Given the description of an element on the screen output the (x, y) to click on. 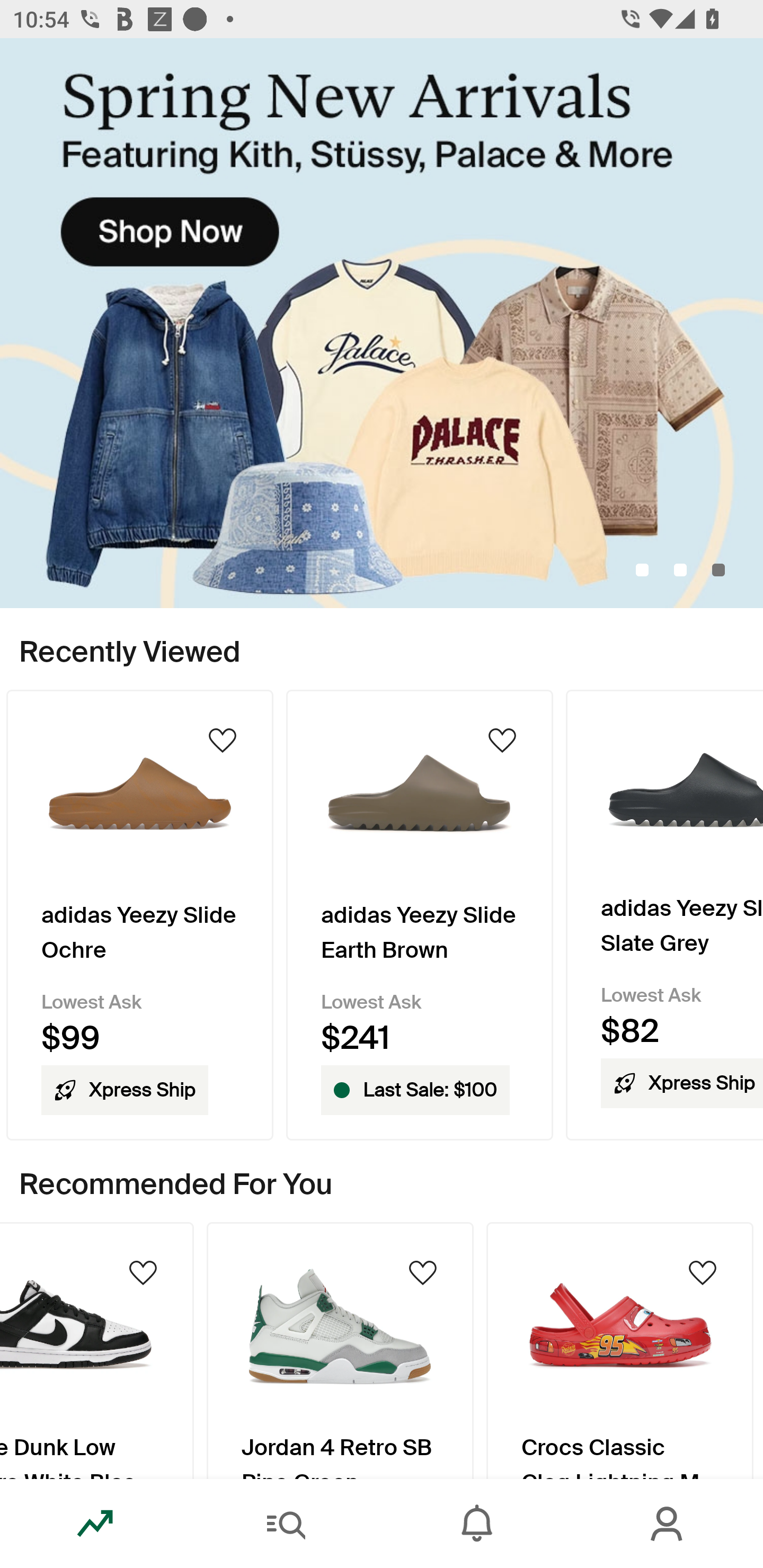
SpringNewArrivals-KithStussy_Primary_Mobile.jpg (381, 322)
Product Image Jordan 4 Retro SB Pine Green (339, 1349)
Product Image Crocs Classic Clog Lightning McQueen (619, 1349)
Search (285, 1523)
Inbox (476, 1523)
Account (667, 1523)
